Given the description of an element on the screen output the (x, y) to click on. 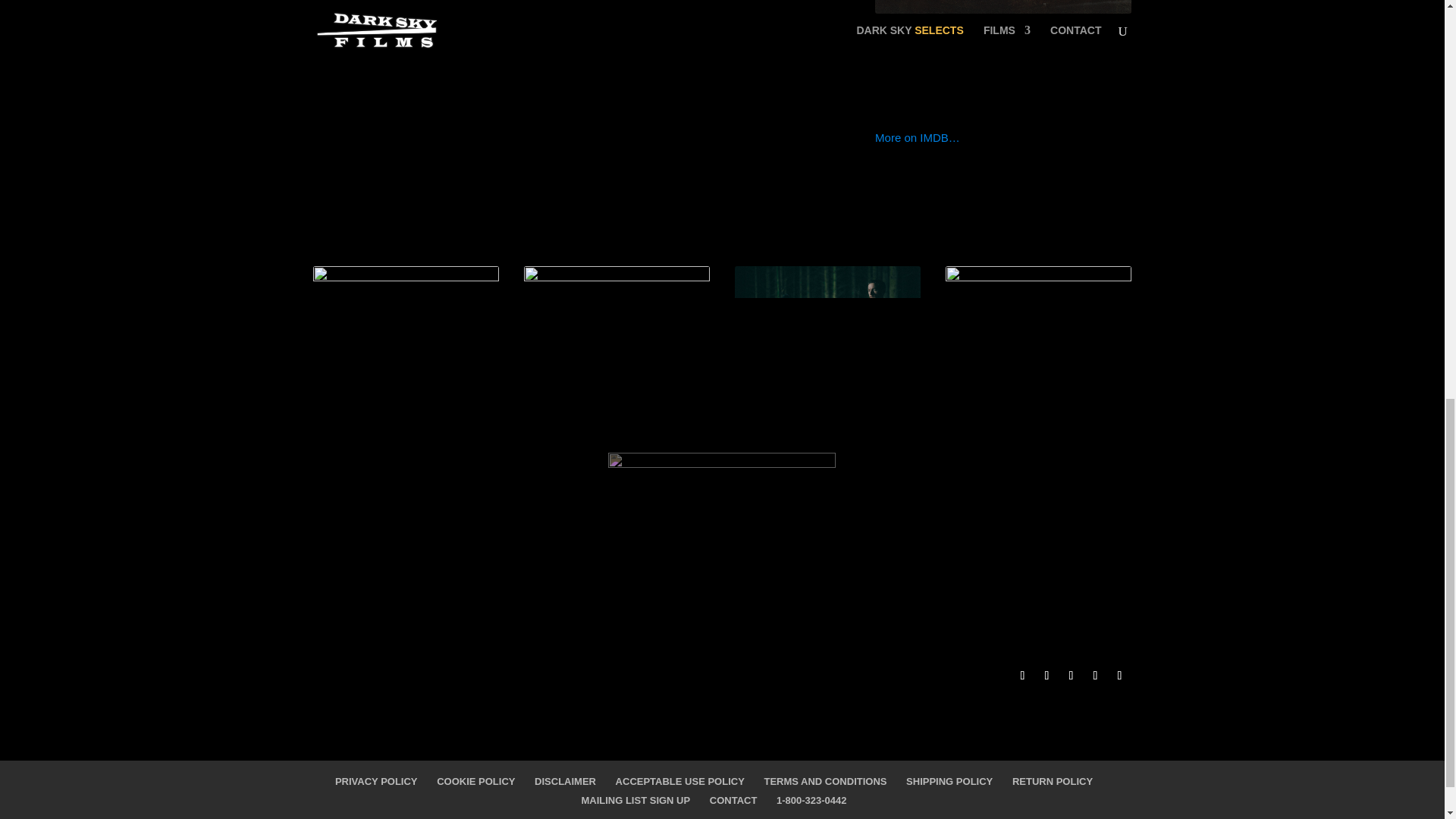
GT-Background-2 (828, 369)
GT-Background-1 (1038, 369)
GT-Background-3 (617, 369)
Follow on Twitter (1045, 675)
GT-Background-4 (406, 369)
GT-Poster (1003, 6)
Follow on Youtube (1070, 675)
Follow on Facebook (1021, 675)
